Given the description of an element on the screen output the (x, y) to click on. 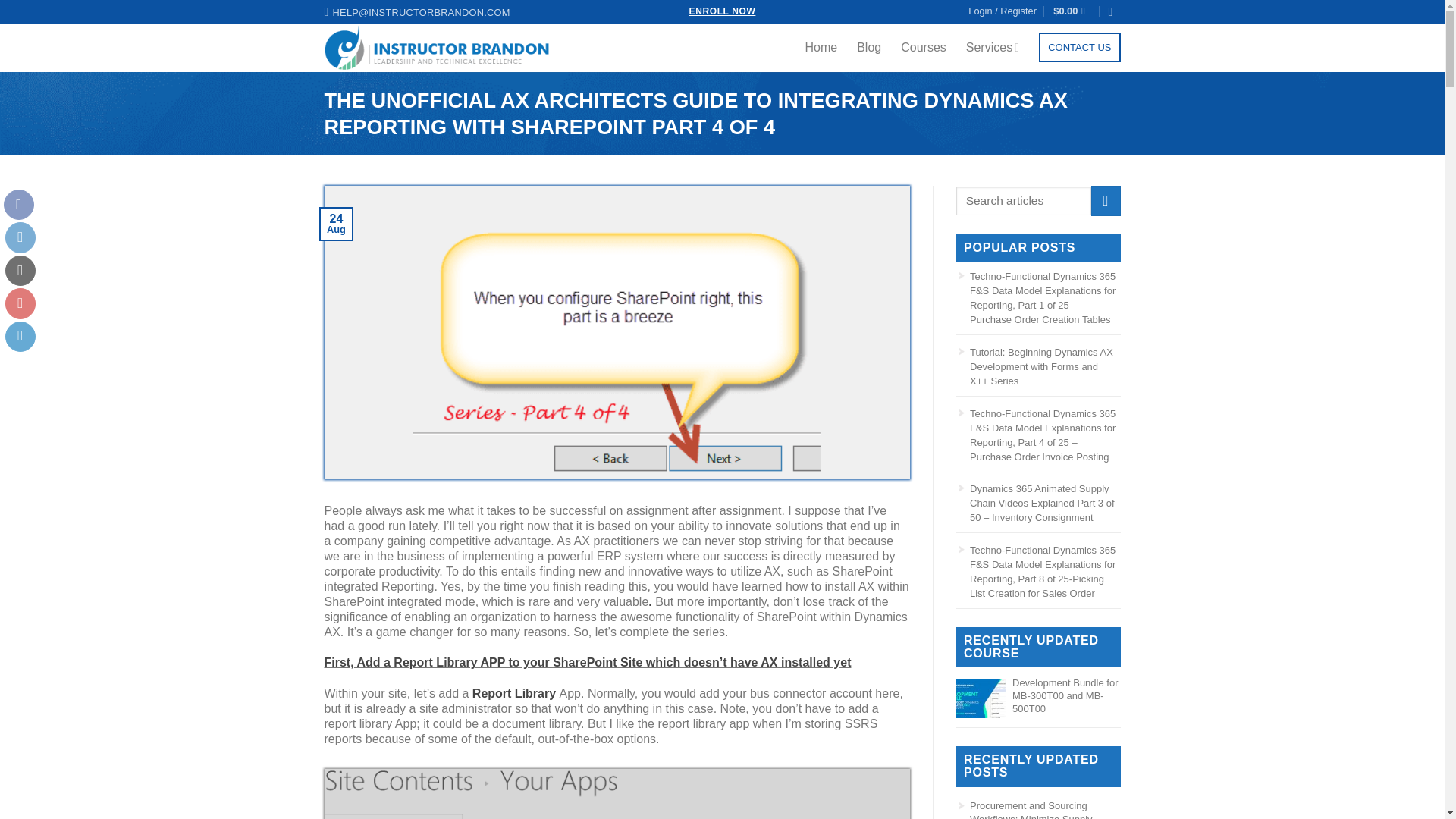
ENROLL NOW (721, 10)
Blog (868, 47)
Services (992, 47)
Share on LinkedIn (19, 336)
Share on Facebook (18, 204)
Pin on Pinterest (19, 303)
Email to a Friend (19, 270)
Cart (1071, 11)
Share on Twitter (19, 236)
Login (1002, 11)
